Given the description of an element on the screen output the (x, y) to click on. 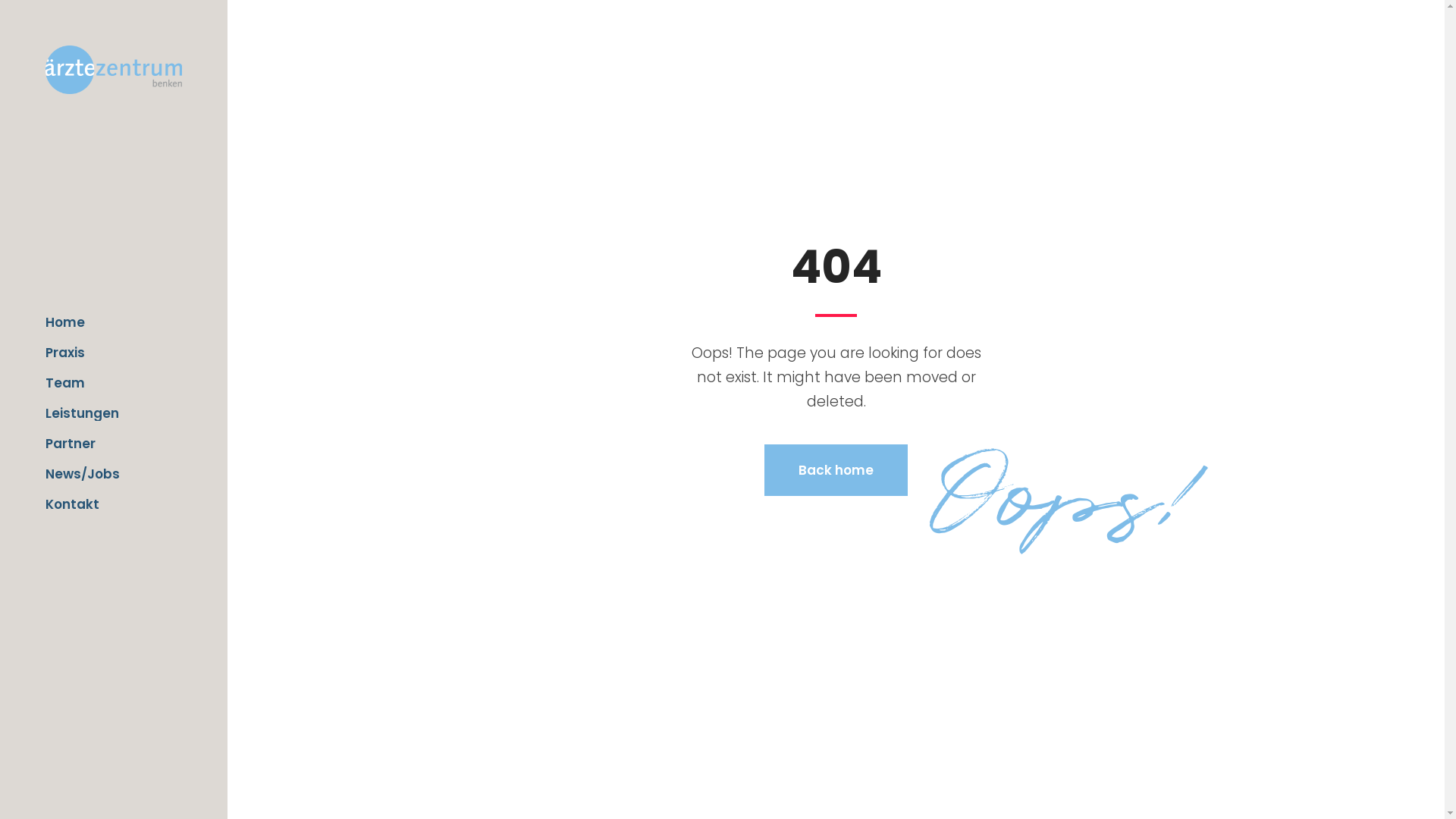
Back home Element type: text (835, 469)
Home Element type: text (113, 322)
Leistungen Element type: text (113, 413)
Team Element type: text (113, 382)
Partner Element type: text (113, 443)
News/Jobs Element type: text (113, 473)
Praxis Element type: text (113, 352)
Kontakt Element type: text (113, 504)
